Given the description of an element on the screen output the (x, y) to click on. 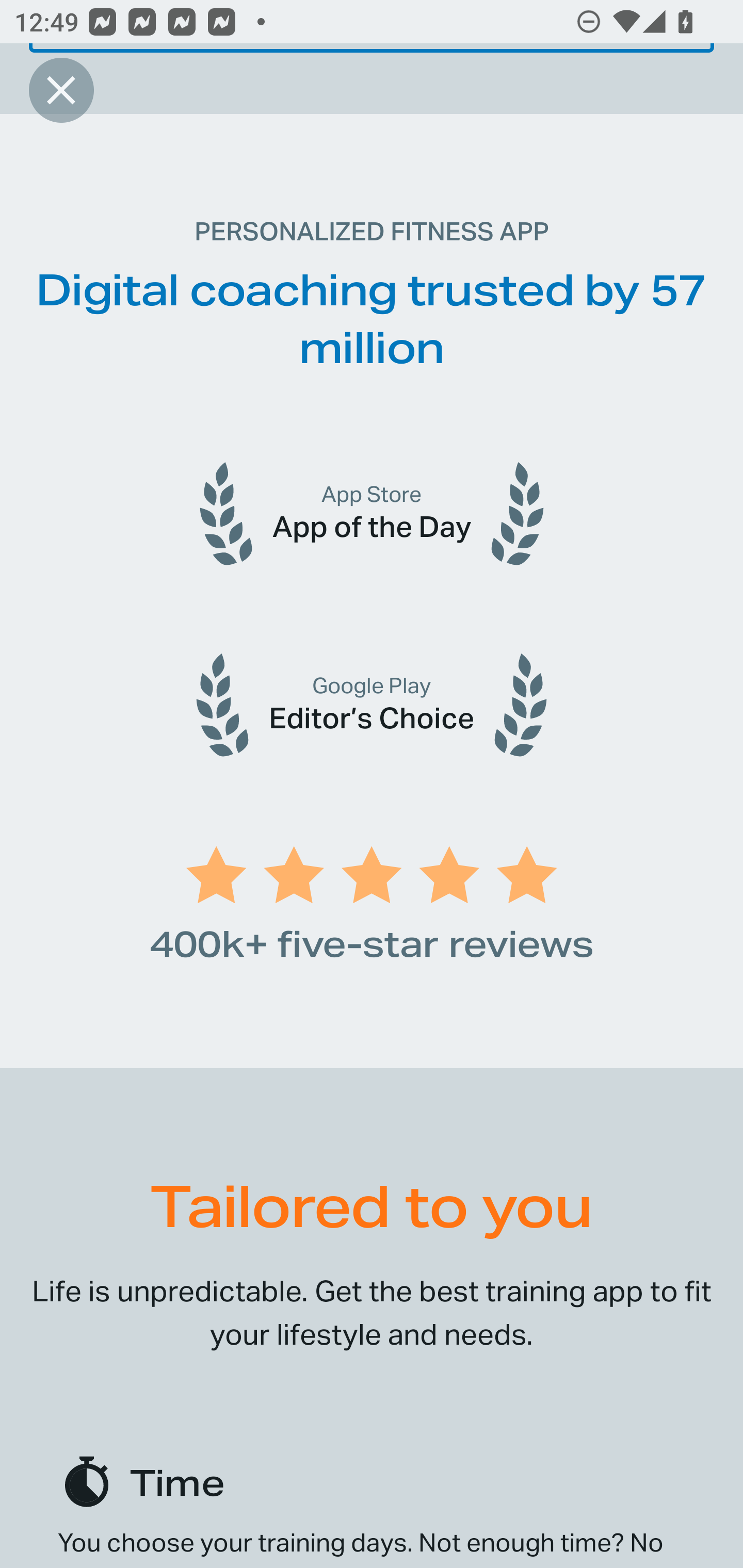
Close (60, 90)
